Given the description of an element on the screen output the (x, y) to click on. 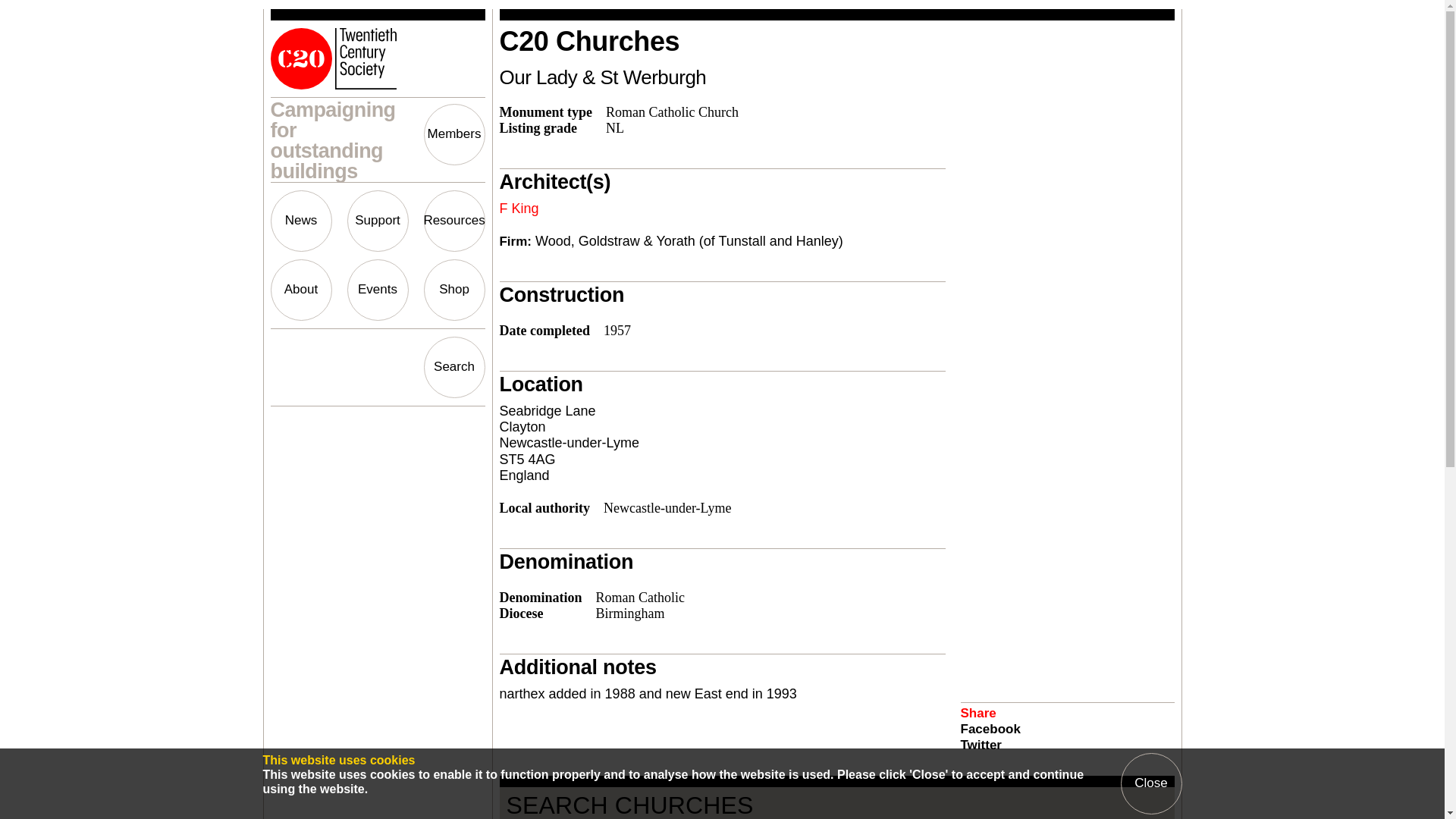
Support (378, 220)
Events (378, 290)
About (300, 290)
Members (453, 134)
Resources (453, 220)
Shop (453, 290)
News (300, 220)
